Given the description of an element on the screen output the (x, y) to click on. 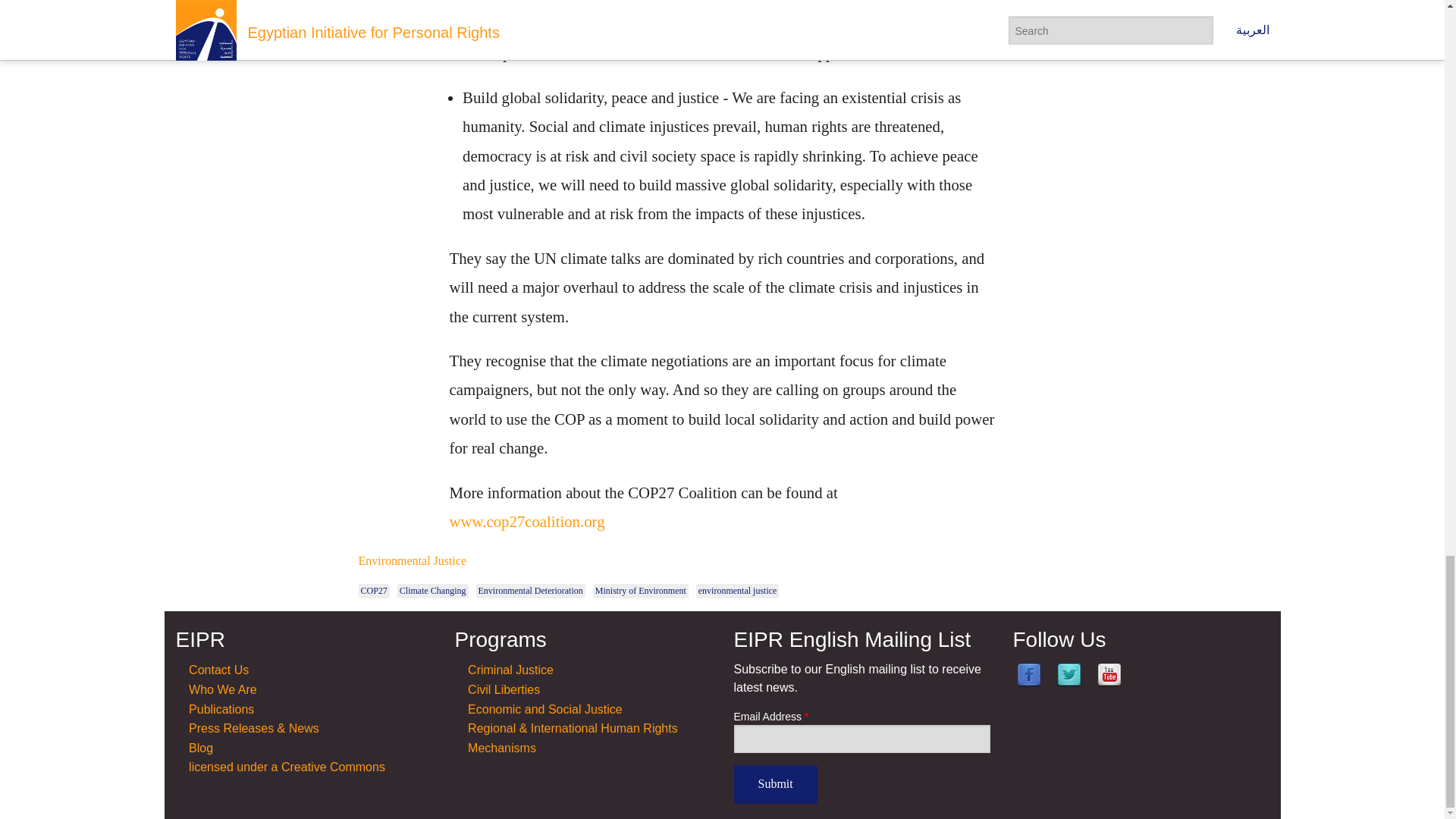
Environmental Deterioration (530, 590)
www.cop27coalition.org (526, 520)
Criminal Justice (510, 669)
Civil Liberties (503, 689)
Who We Are (223, 689)
Ministry of Environment (640, 590)
Contact Us (218, 669)
Twitter (1069, 675)
Climate Changing (432, 590)
Environmental Justice (411, 560)
